Given the description of an element on the screen output the (x, y) to click on. 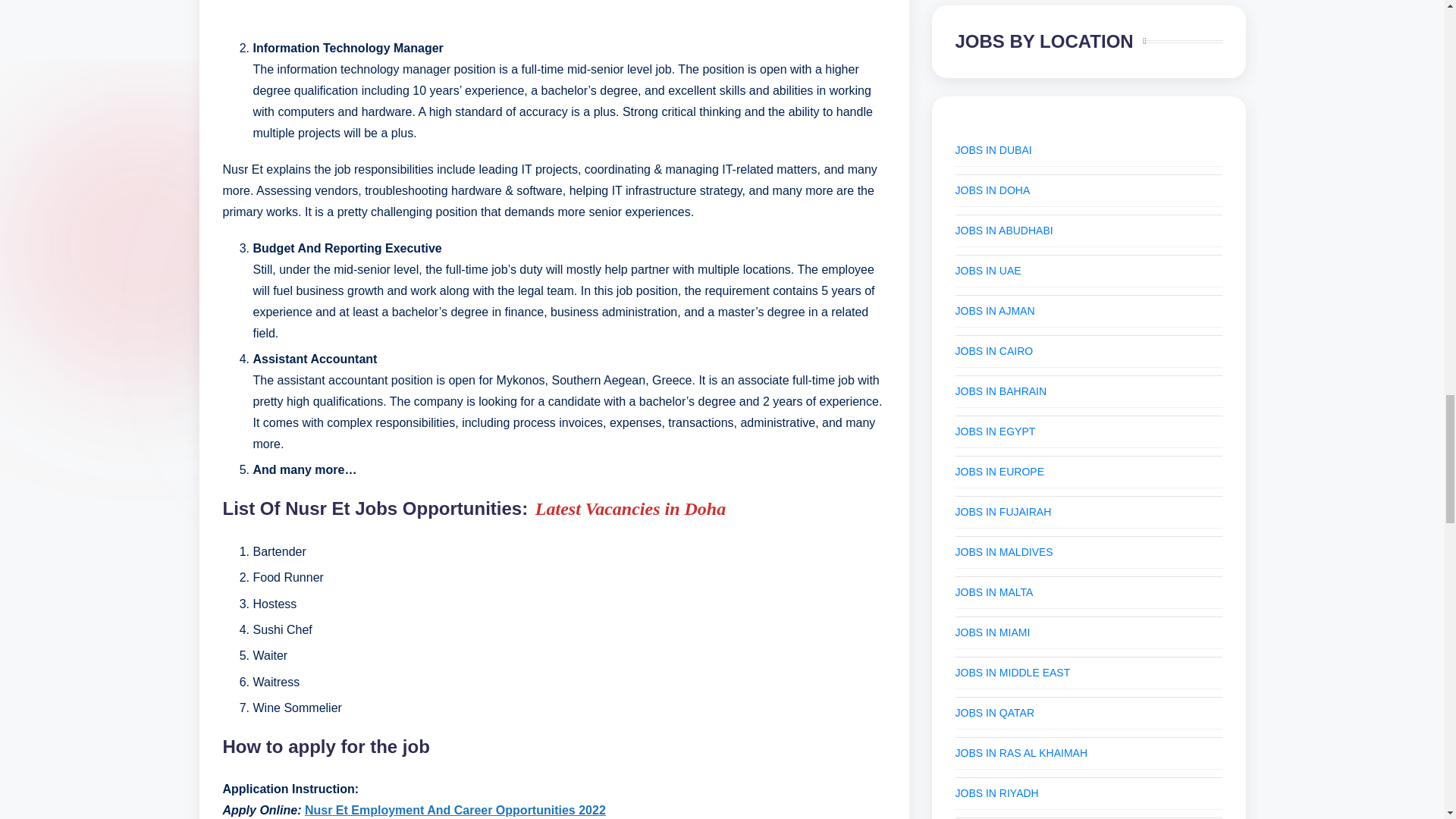
Et Employment And Career Opportunities 2022 (470, 809)
Nusr (317, 809)
Advertisement (553, 11)
